Given the description of an element on the screen output the (x, y) to click on. 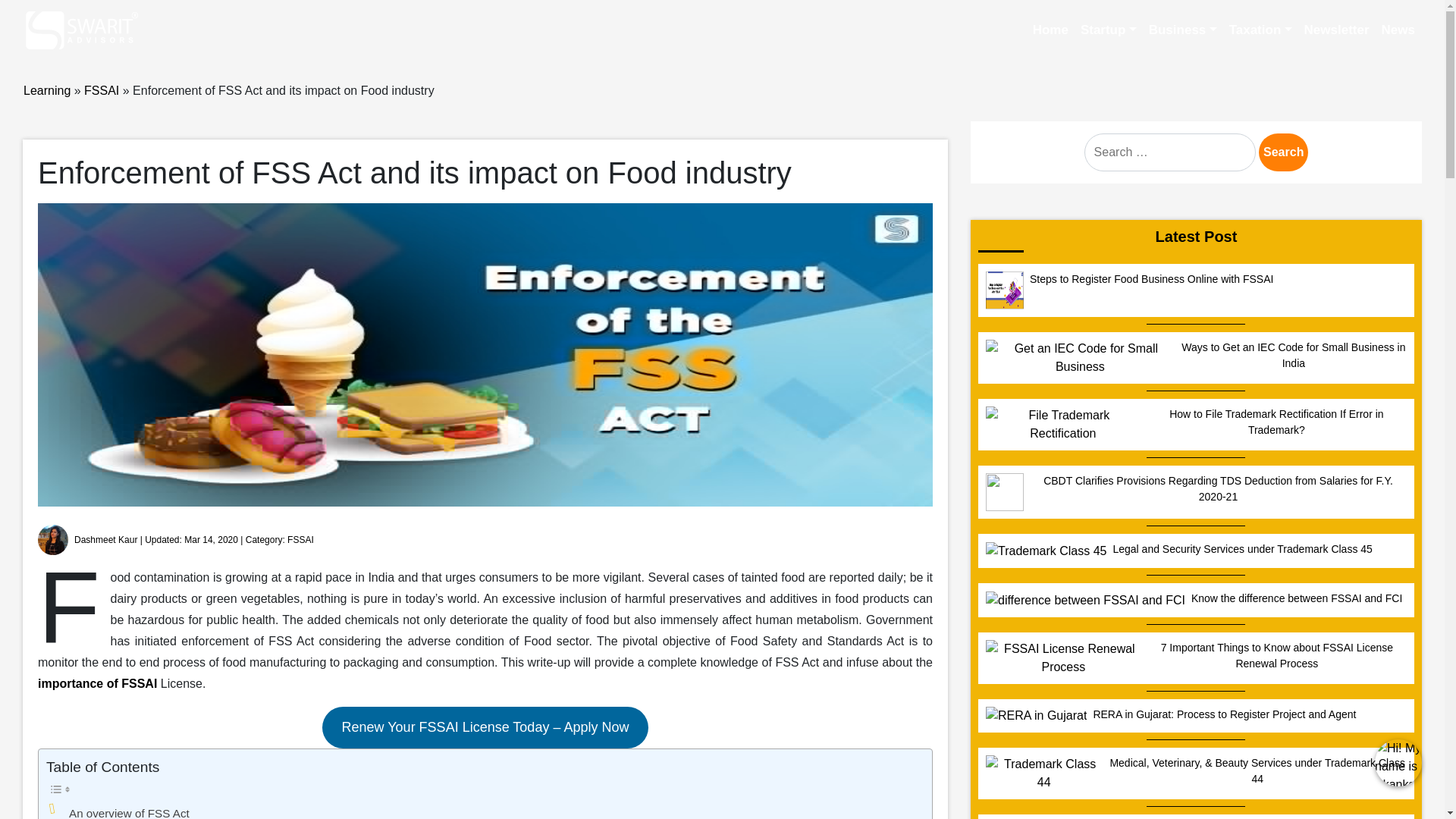
Operations under Food Safety and Standards Act (149, 522)
on (37, 483)
Limited Liability Partnership (310, 127)
Operations under Food Safety and Standards Act (149, 522)
Import Export Code (779, 127)
Posts by Dashmeet Kaur (39, 337)
9711391484 (68, 18)
Food Business Operators that must obtain FSSAI License (169, 550)
Newsletter (62, 195)
importance of FSSAI (974, 394)
